Given the description of an element on the screen output the (x, y) to click on. 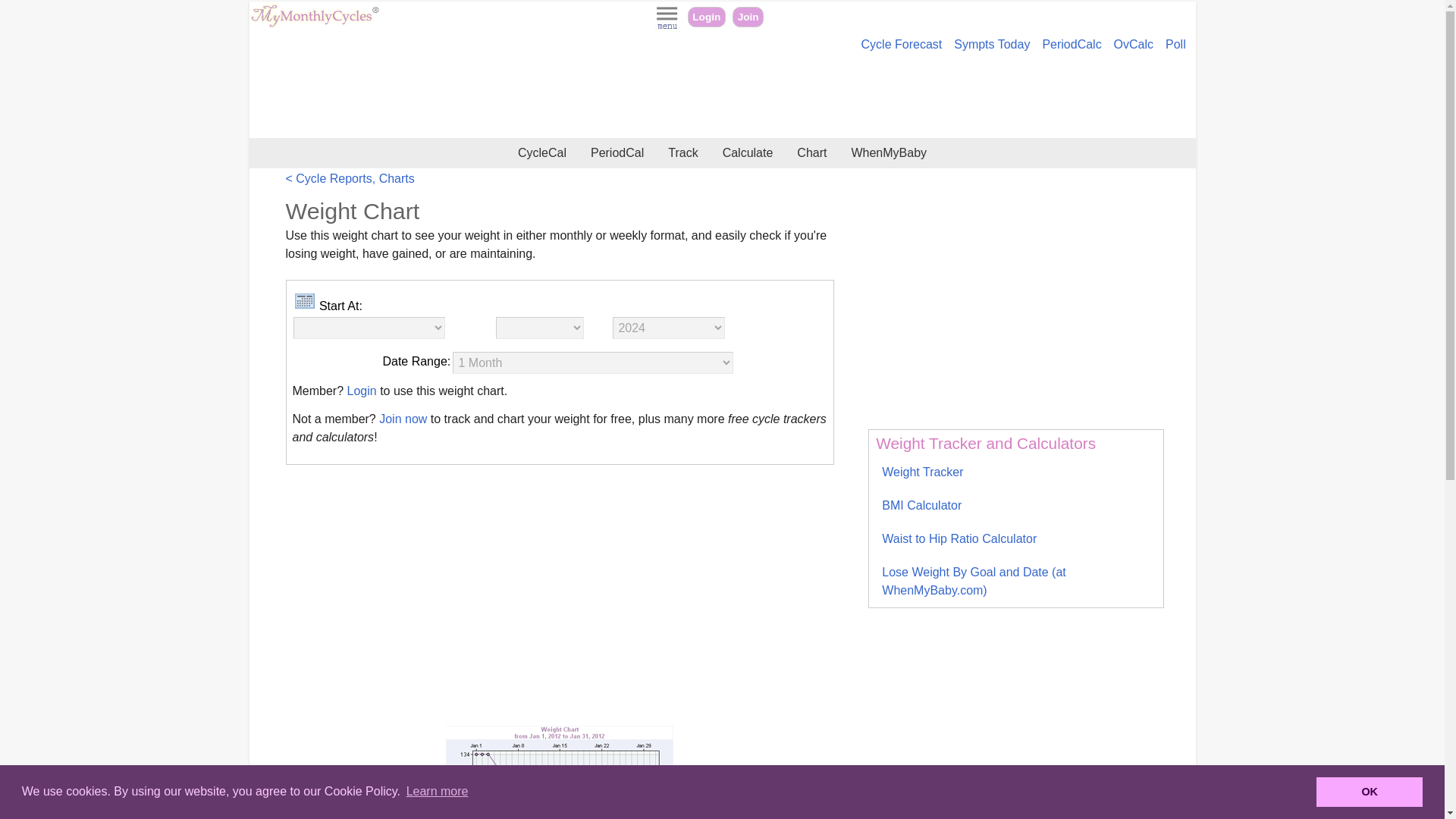
Ovulation Calculator (1133, 44)
Login (706, 16)
Join (747, 16)
PeriodCal (617, 153)
Cycle Forecast (901, 44)
OvCalc (1133, 44)
MyMonthlyCycles Home Page (313, 23)
Period Tracking Calendar (617, 153)
WhenMyBaby (888, 153)
Cycle and fertility forecast (901, 44)
CycleCal (541, 153)
Chart (811, 153)
Track (683, 153)
Period Calculator (1071, 44)
Period, Pregnancy, Fertility Charts (811, 153)
